Given the description of an element on the screen output the (x, y) to click on. 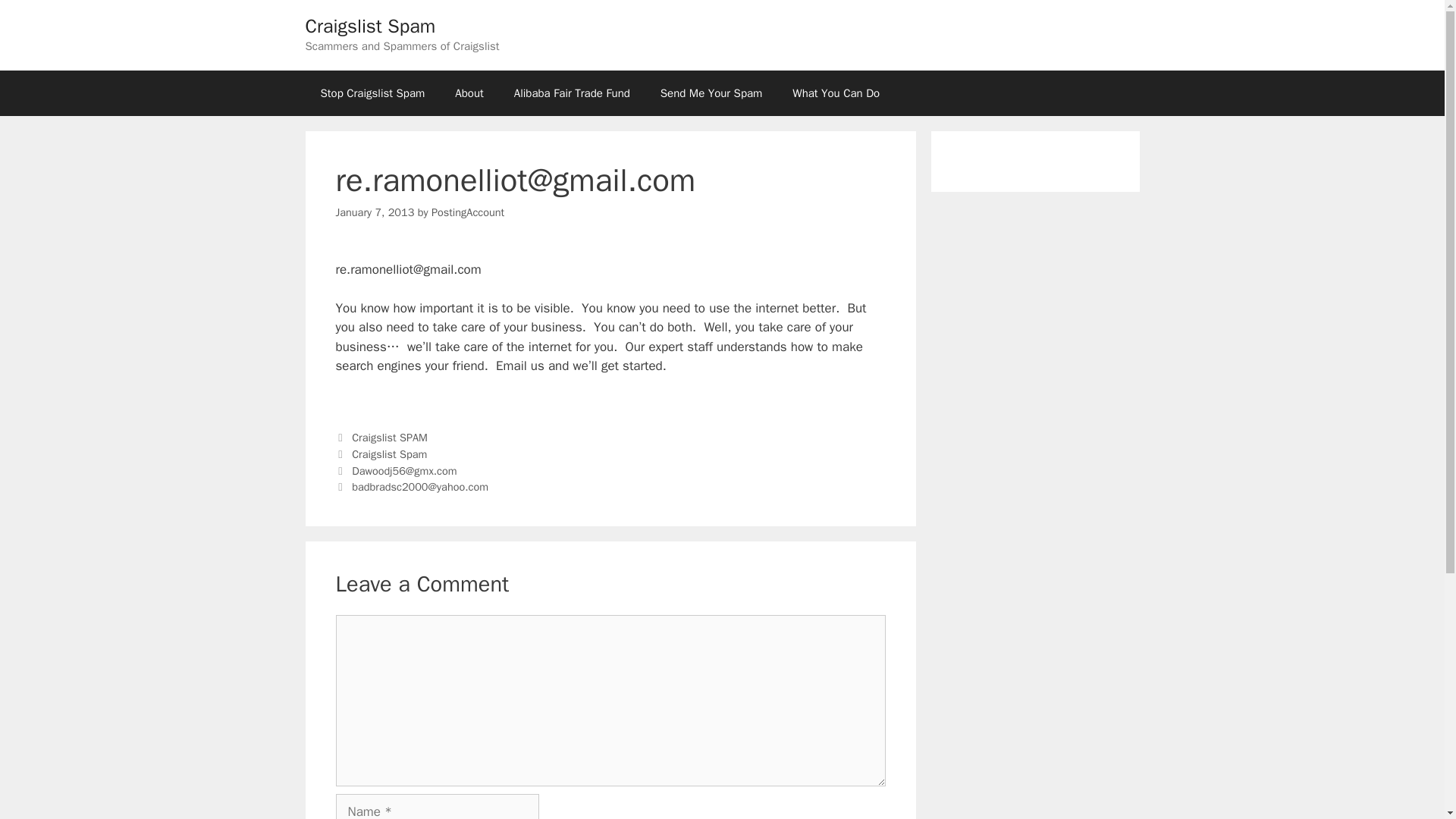
Send Me Your Spam (711, 92)
PostingAccount (466, 212)
What You Can Do (836, 92)
Alibaba Fair Trade Fund (572, 92)
Craigslist SPAM (390, 437)
View all posts by PostingAccount (466, 212)
About (468, 92)
Next (410, 486)
Craigslist Spam (369, 25)
Stop Craigslist Spam (371, 92)
Previous (395, 470)
Craigslist Spam (389, 454)
